Given the description of an element on the screen output the (x, y) to click on. 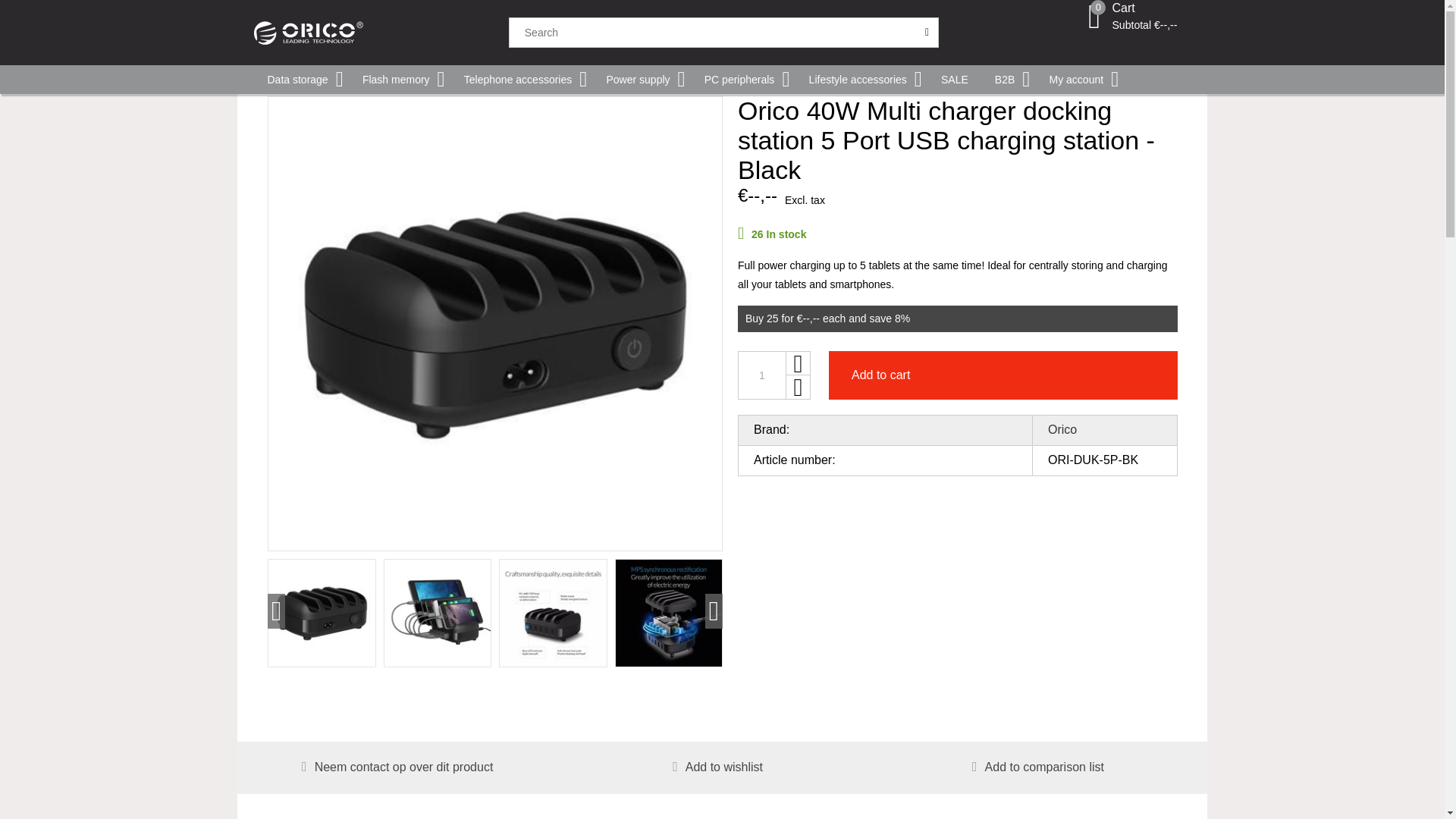
Telephone accessories (519, 79)
Orico (379, 32)
Data storage (298, 79)
My cart (1093, 24)
0 (1093, 24)
My cart (1144, 16)
1 (762, 375)
Data storage (298, 79)
Flash memory (397, 79)
